Given the description of an element on the screen output the (x, y) to click on. 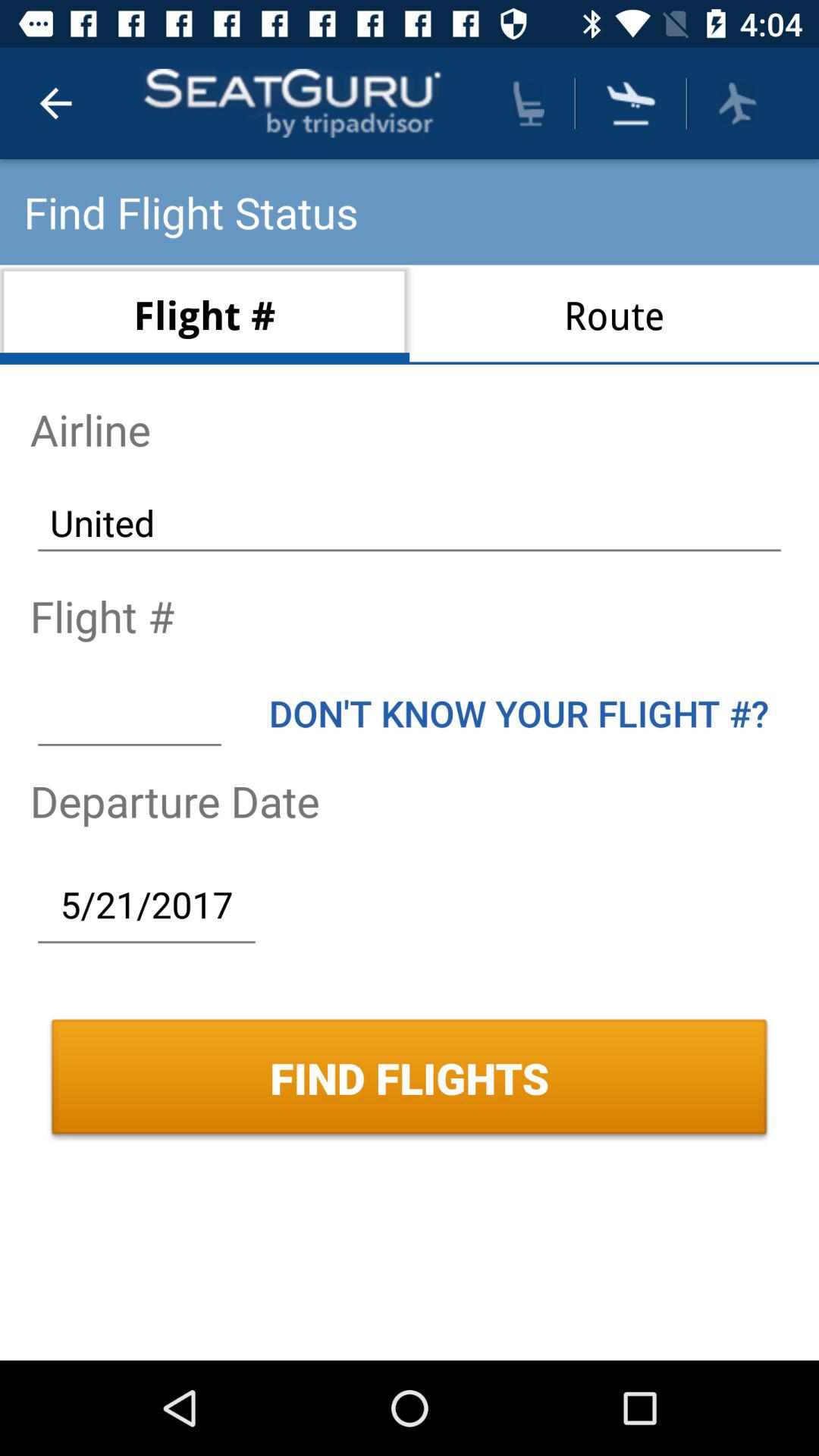
turn off item to the left of don t know (129, 712)
